Given the description of an element on the screen output the (x, y) to click on. 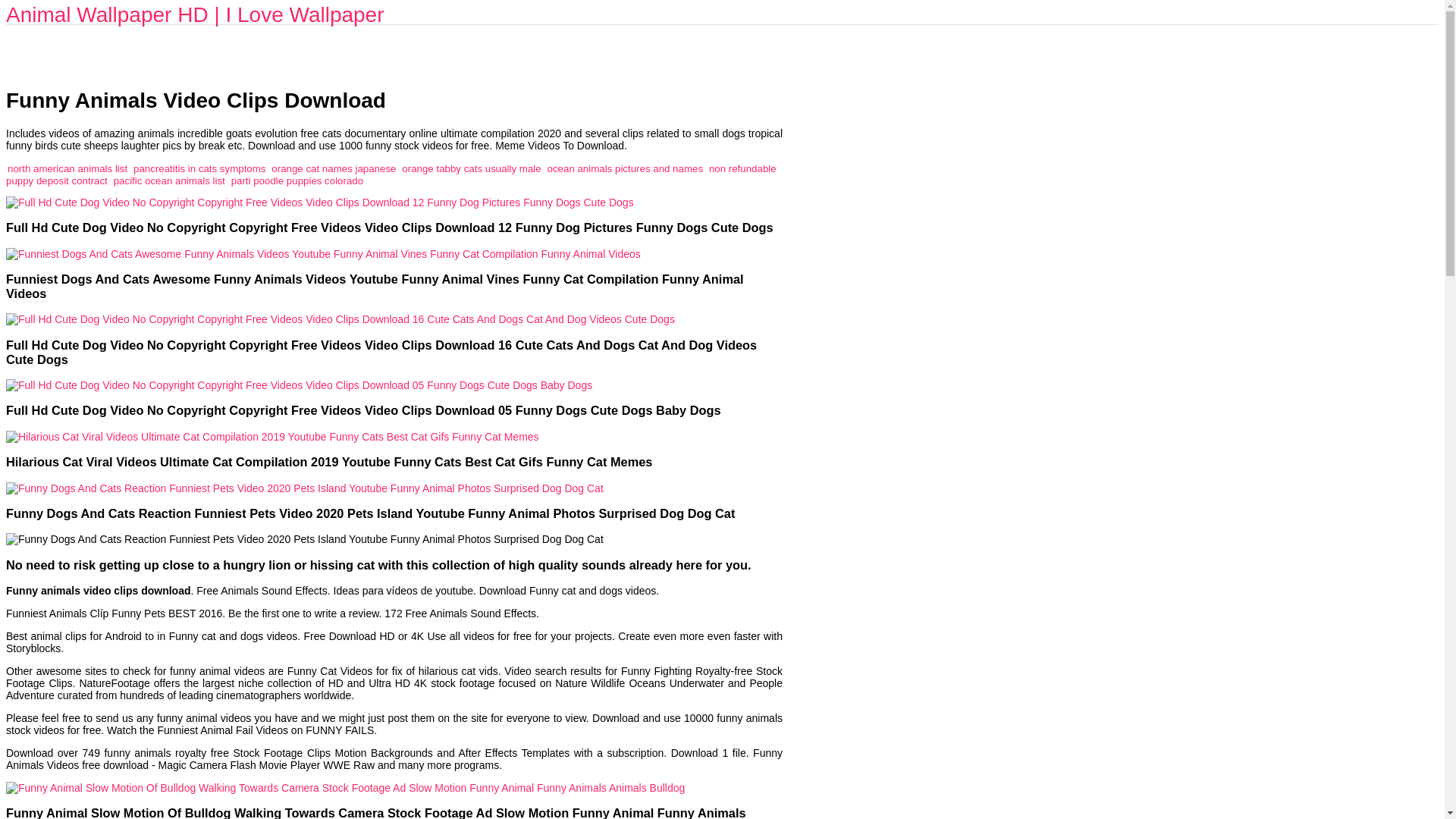
orange cat names japanese (333, 168)
pacific ocean animals list (169, 180)
parti poodle puppies colorado (296, 180)
non refundable puppy deposit contract (390, 174)
pancreatitis in cats symptoms (198, 168)
north american animals list (67, 168)
ocean animals pictures and names (625, 168)
orange tabby cats usually male (470, 168)
